Given the description of an element on the screen output the (x, y) to click on. 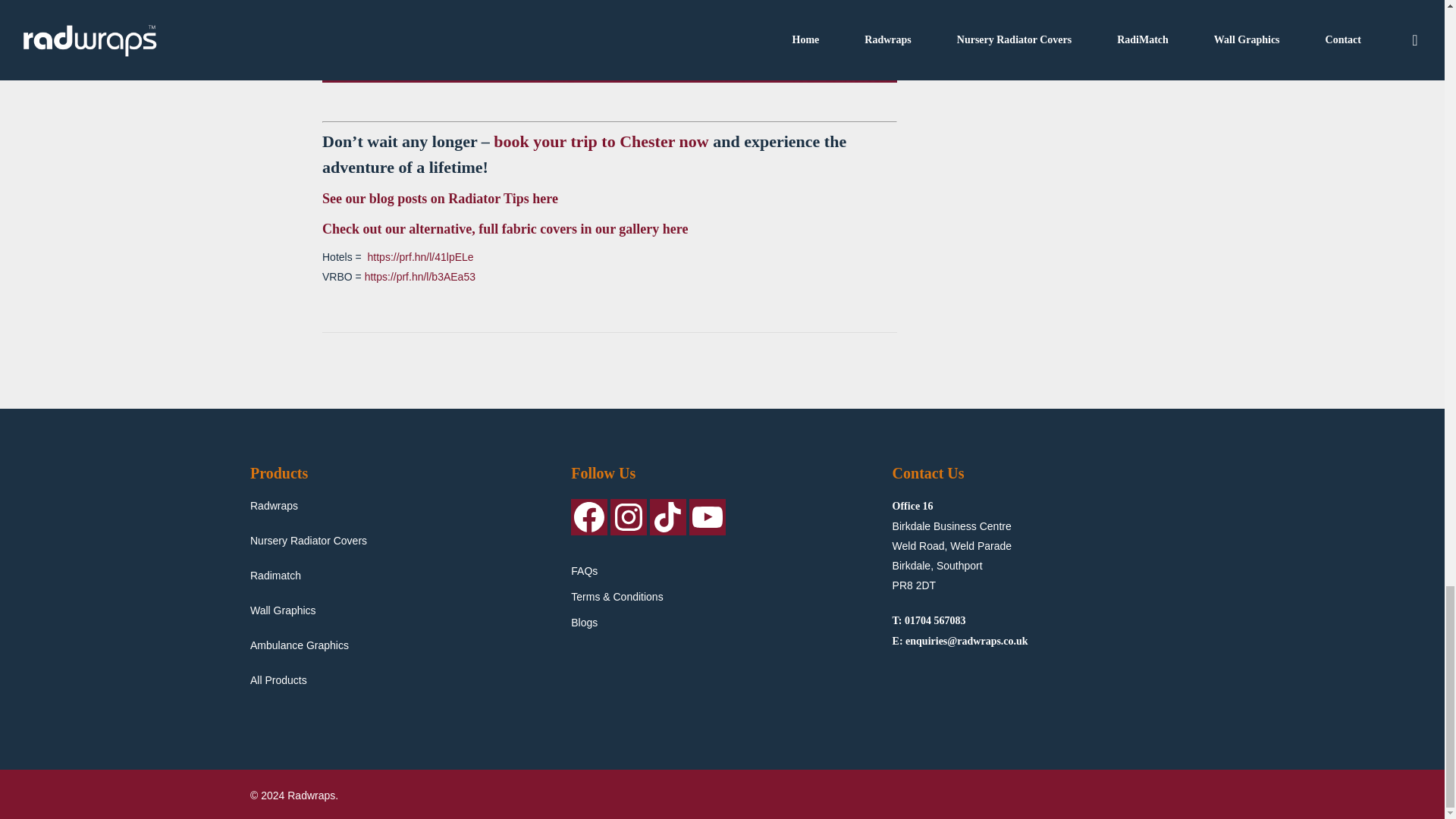
See our blog posts on Radiator Tips here (439, 198)
book your trip to Chester now (600, 140)
